Given the description of an element on the screen output the (x, y) to click on. 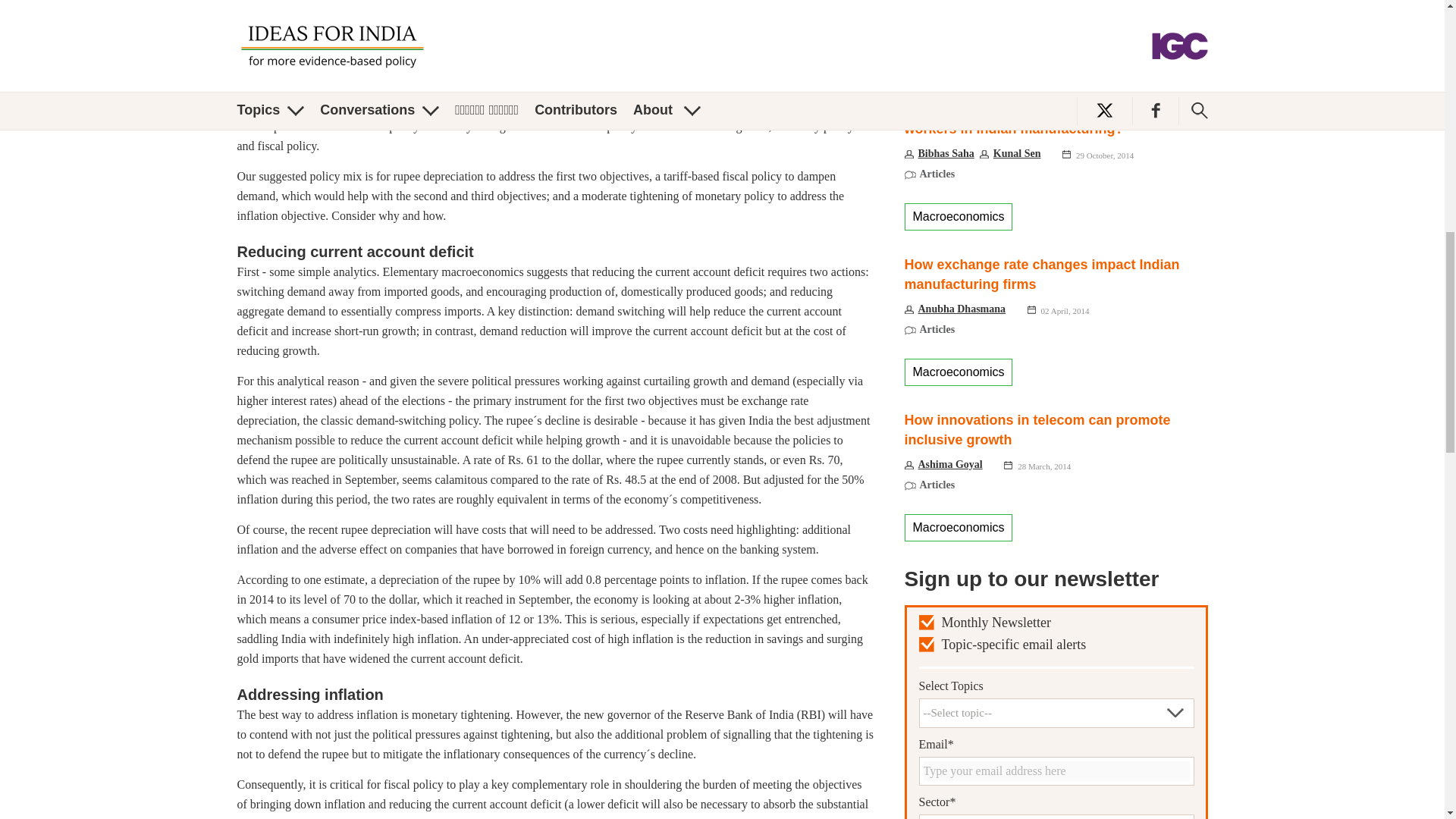
--Select topic-- (1056, 712)
